Given the description of an element on the screen output the (x, y) to click on. 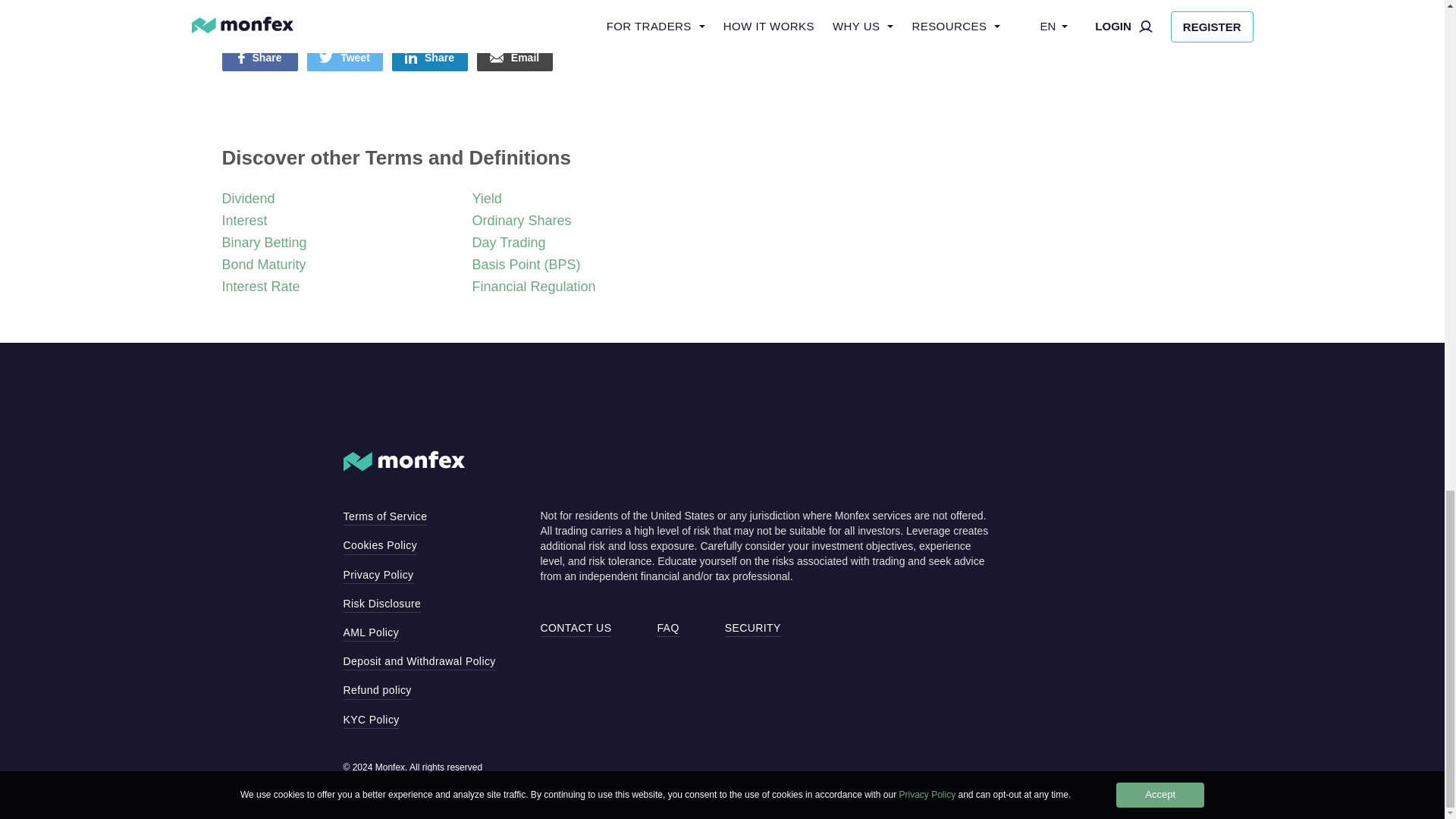
Yield (485, 198)
Financial Regulation (533, 286)
Linkedin (429, 57)
Terms of Service (384, 515)
Tweet (343, 57)
Twitter (343, 57)
Ordinary Shares (520, 220)
Share (259, 57)
Dividend (248, 198)
Email (513, 57)
Cookies Policy (379, 545)
Day Trading (507, 242)
Binary Betting (263, 242)
Interest (243, 220)
Privacy Policy (377, 574)
